Given the description of an element on the screen output the (x, y) to click on. 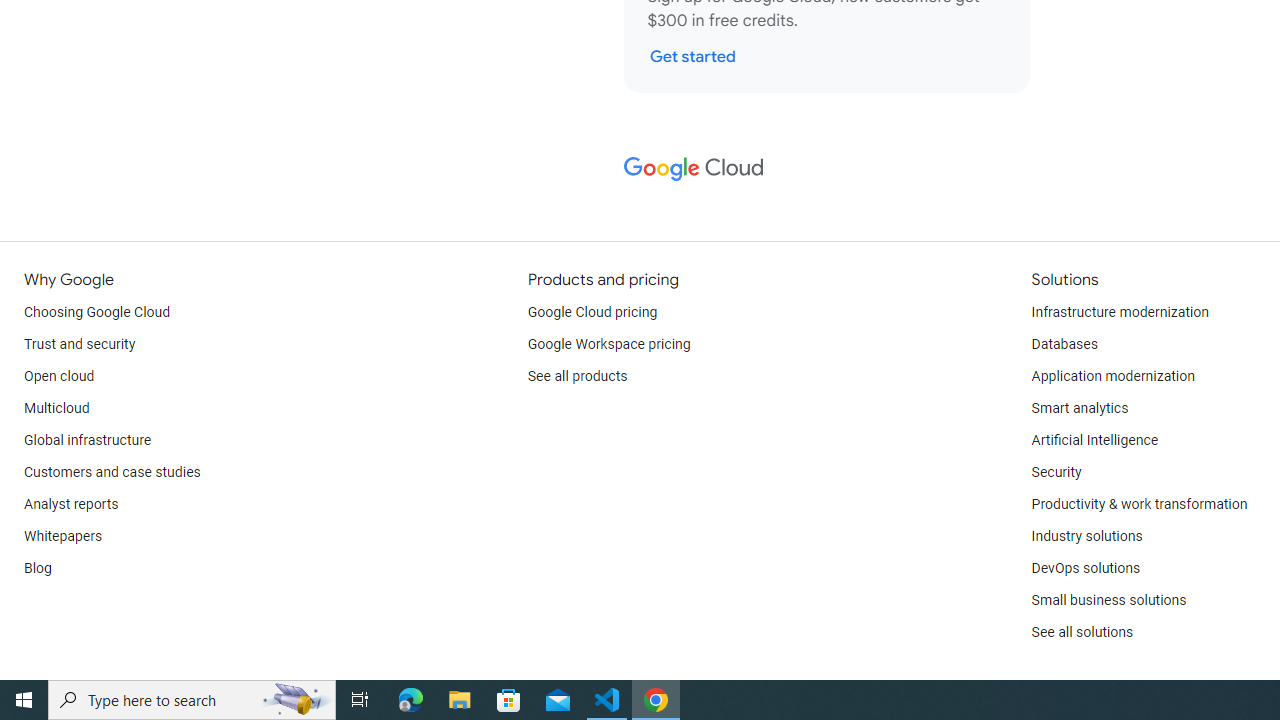
Google Cloud (692, 168)
Industry solutions (1086, 536)
Get started (692, 56)
Application modernization (1112, 376)
Multicloud (56, 408)
Artificial Intelligence (1094, 440)
See all solutions (1082, 632)
Small business solutions (1108, 600)
Security (1055, 472)
Google Cloud pricing (592, 312)
Infrastructure modernization (1119, 312)
Whitepapers (63, 536)
Trust and security (79, 344)
See all products (577, 376)
